Given the description of an element on the screen output the (x, y) to click on. 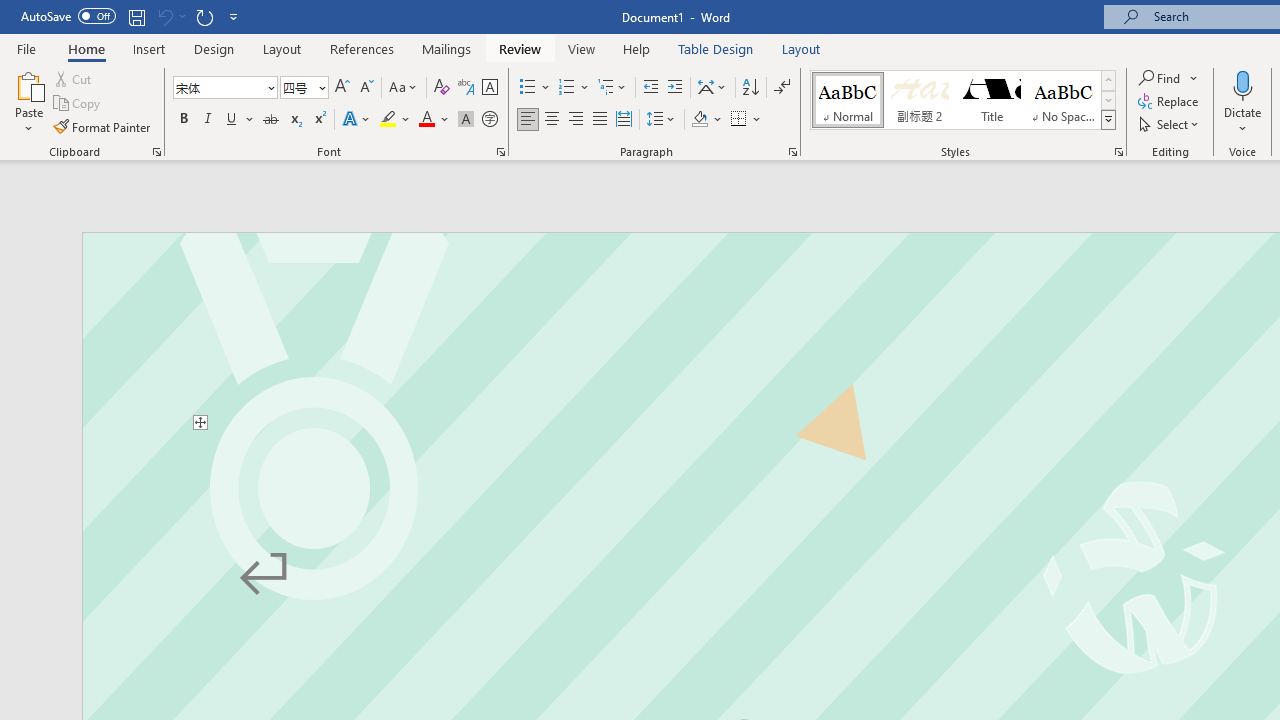
Styles (1108, 120)
Asian Layout (712, 87)
AutomationID: QuickStylesGallery (963, 99)
Title (991, 100)
Phonetic Guide... (465, 87)
Font... (500, 151)
Format Painter (103, 126)
Shrink Font (365, 87)
Text Highlight Color (395, 119)
